Given the description of an element on the screen output the (x, y) to click on. 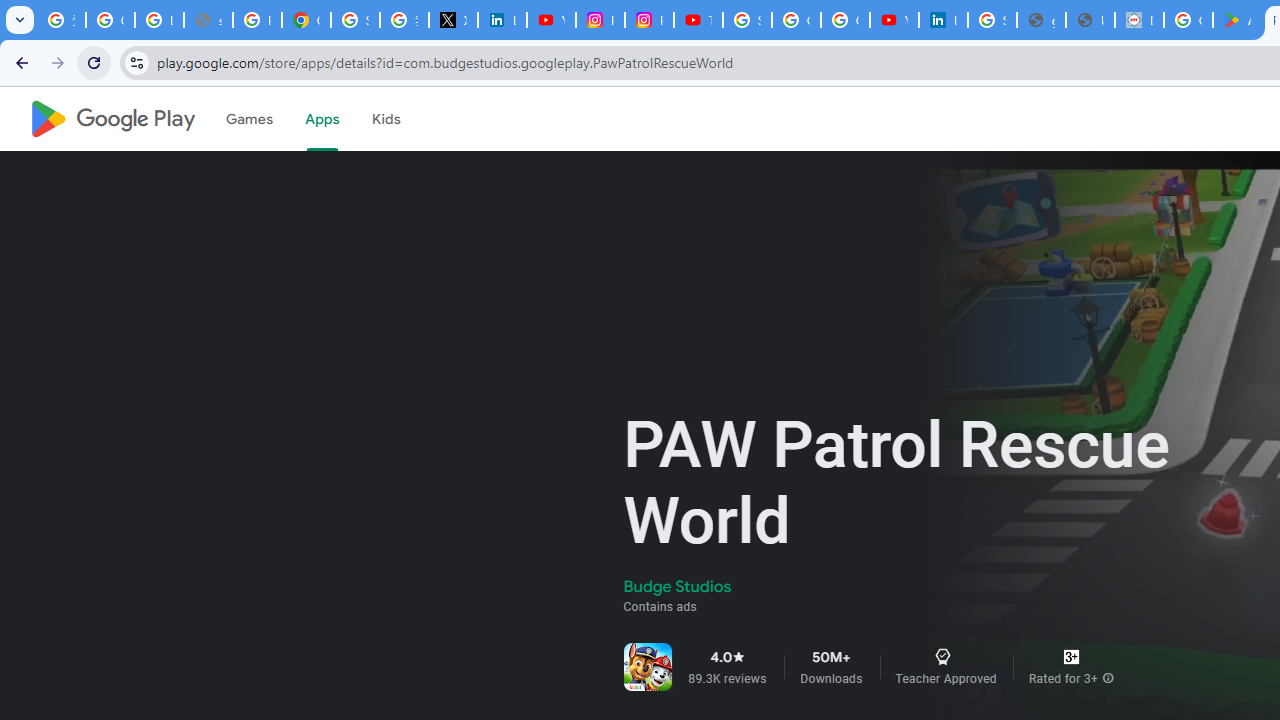
Sign in - Google Accounts (355, 20)
View site information (136, 62)
Games (248, 119)
Content rating (1071, 656)
Sign in - Google Accounts (992, 20)
